Given the description of an element on the screen output the (x, y) to click on. 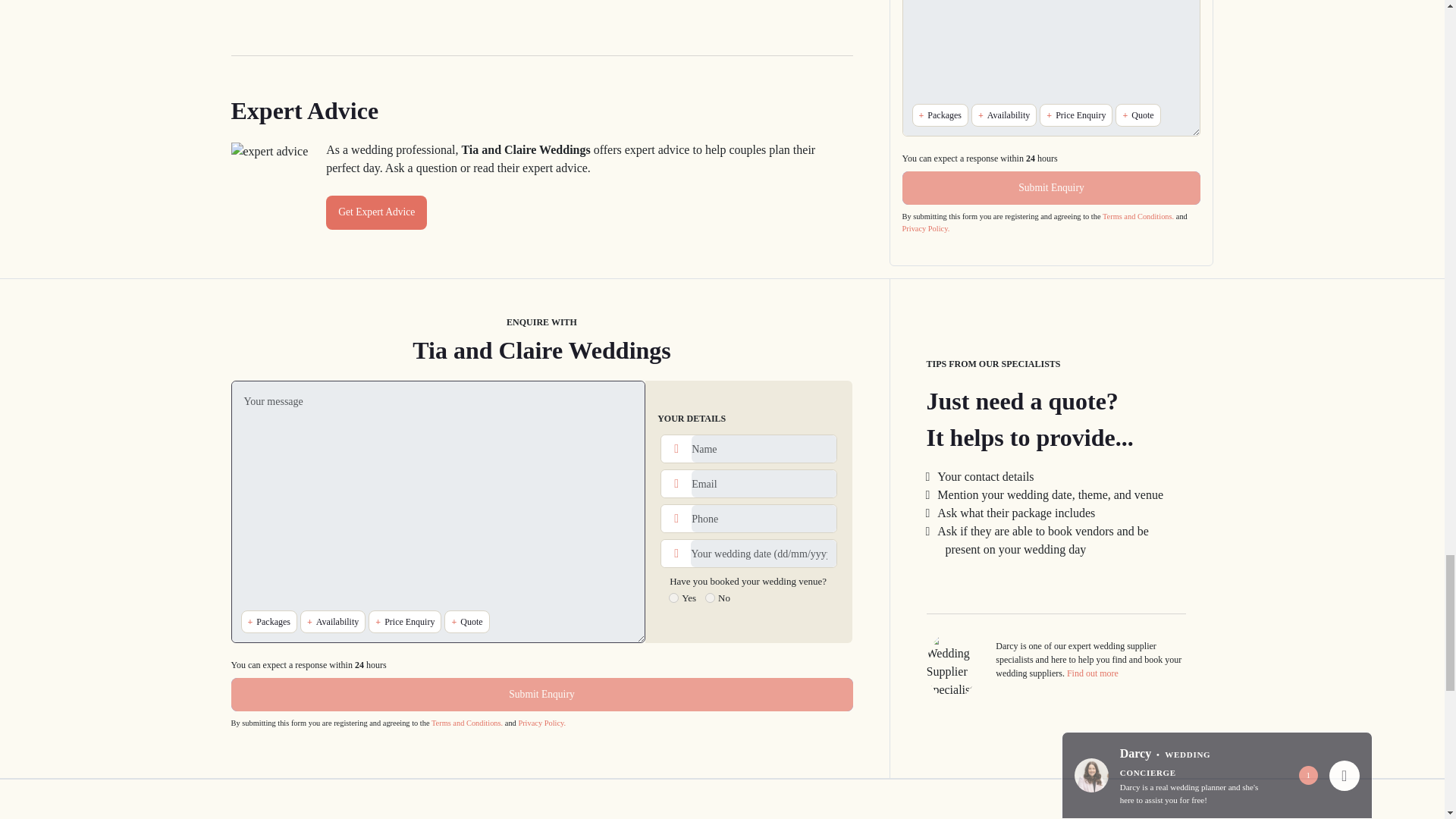
expert advice (268, 151)
find out more (1092, 673)
No (709, 597)
Yes (673, 597)
